Given the description of an element on the screen output the (x, y) to click on. 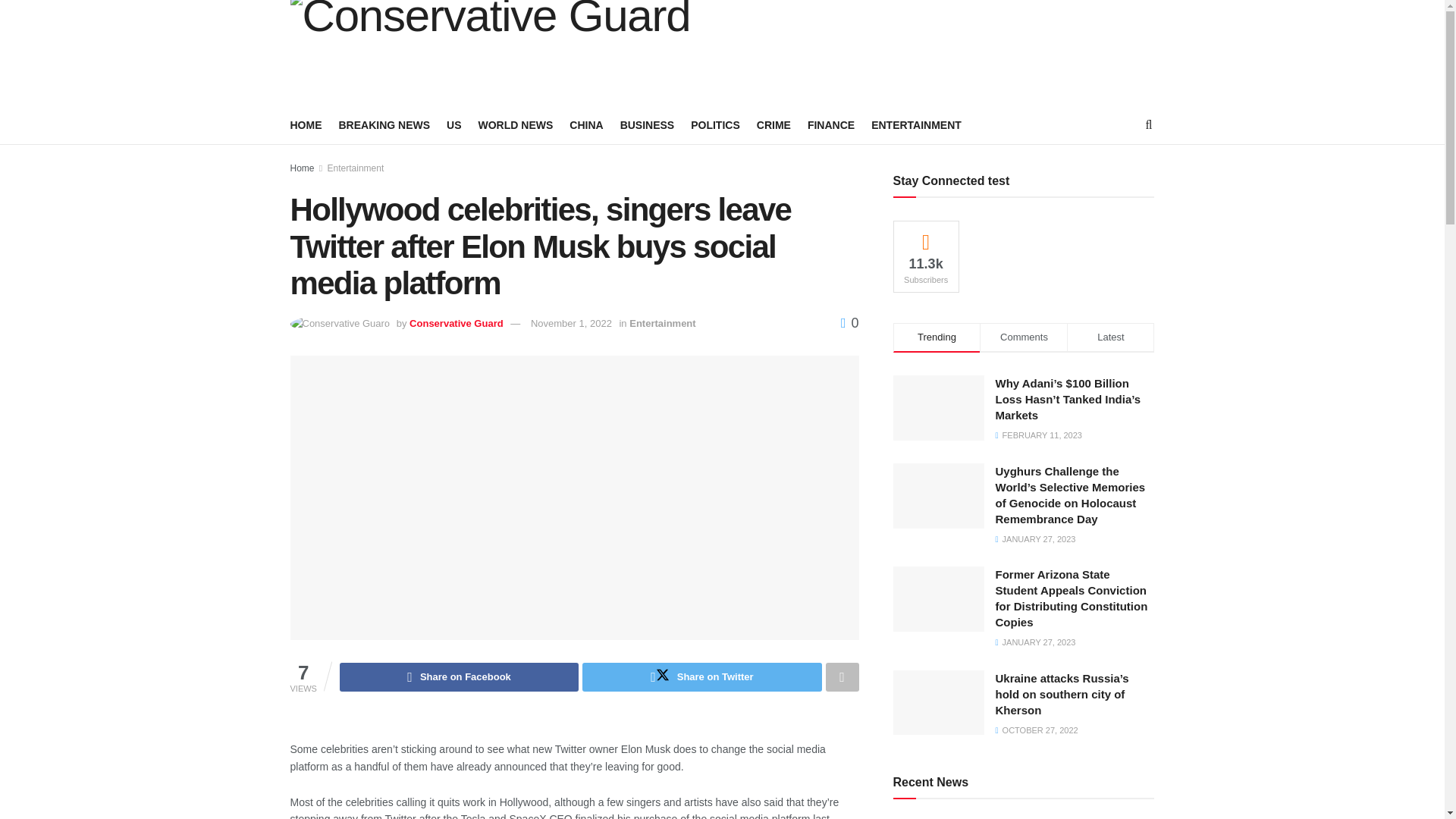
Share on Facebook (458, 676)
FINANCE (831, 124)
Entertainment (661, 323)
BUSINESS (647, 124)
Home (301, 167)
WORLD NEWS (516, 124)
CRIME (773, 124)
HOME (305, 124)
Conservative Guard (456, 323)
November 1, 2022 (571, 323)
BREAKING NEWS (383, 124)
Share on Twitter (701, 676)
CHINA (585, 124)
POLITICS (714, 124)
0 (850, 322)
